Given the description of an element on the screen output the (x, y) to click on. 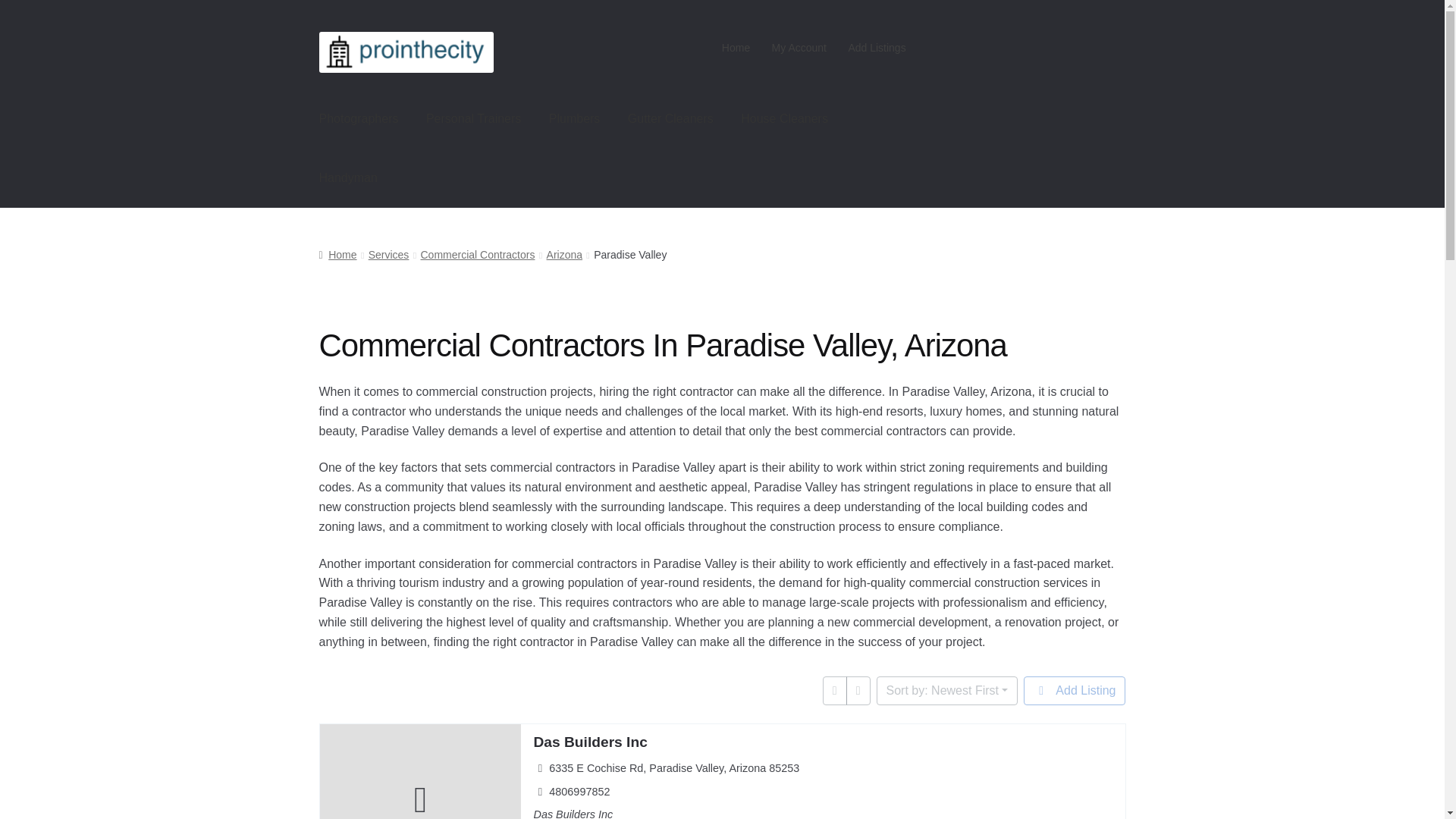
Das Builders Inc (589, 741)
Add Listings (876, 47)
Das Builders Inc (589, 741)
Gutter Cleaners (670, 118)
Plumbers (574, 118)
Commercial Contractors (477, 254)
Photographers (358, 118)
House Cleaners (784, 118)
Personal Trainers (472, 118)
Home (337, 254)
Services (388, 254)
Arizona (564, 254)
My Account (798, 47)
Home (736, 47)
Add Listing (1074, 690)
